Given the description of an element on the screen output the (x, y) to click on. 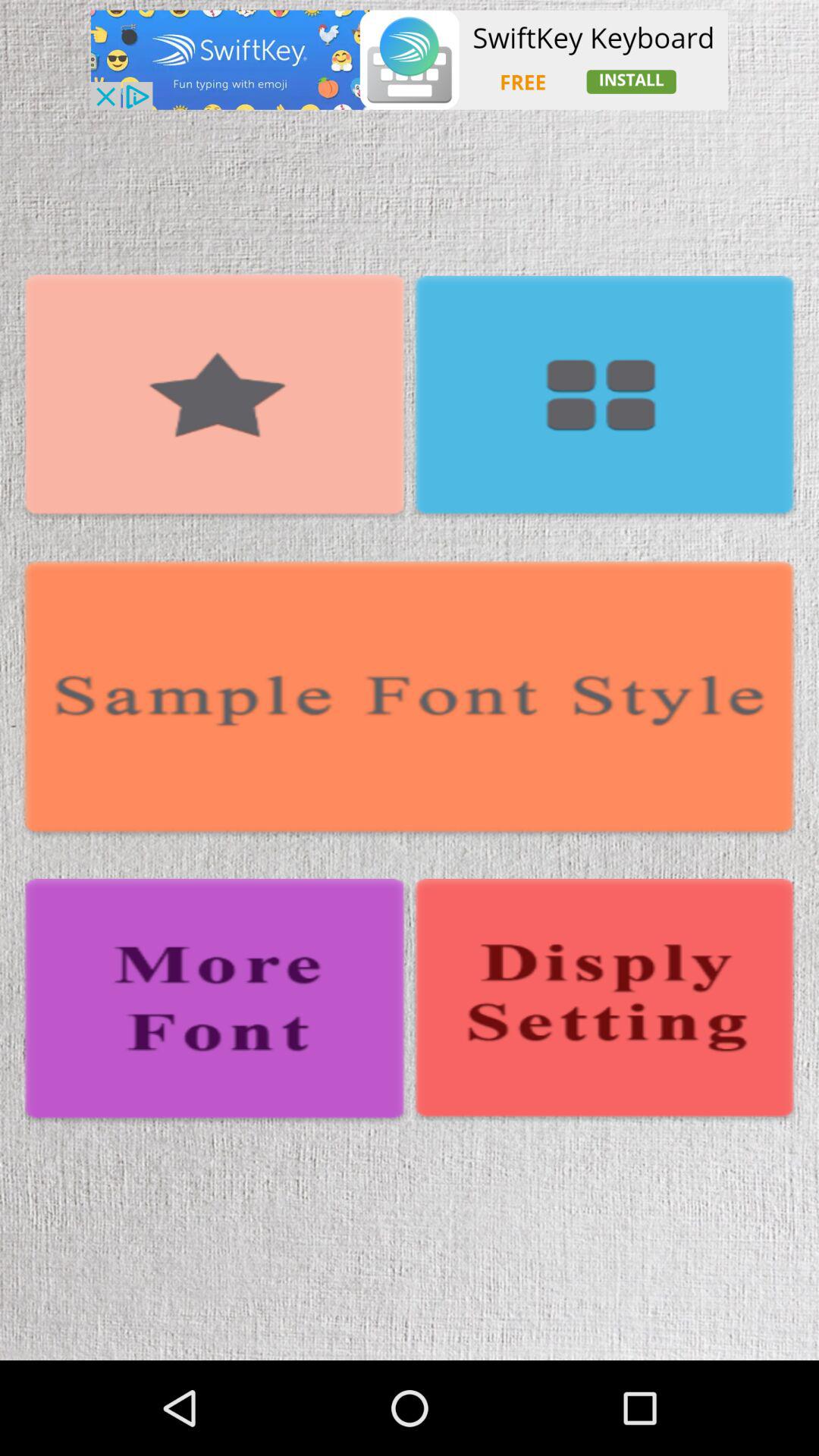
advertise an app (409, 59)
